Given the description of an element on the screen output the (x, y) to click on. 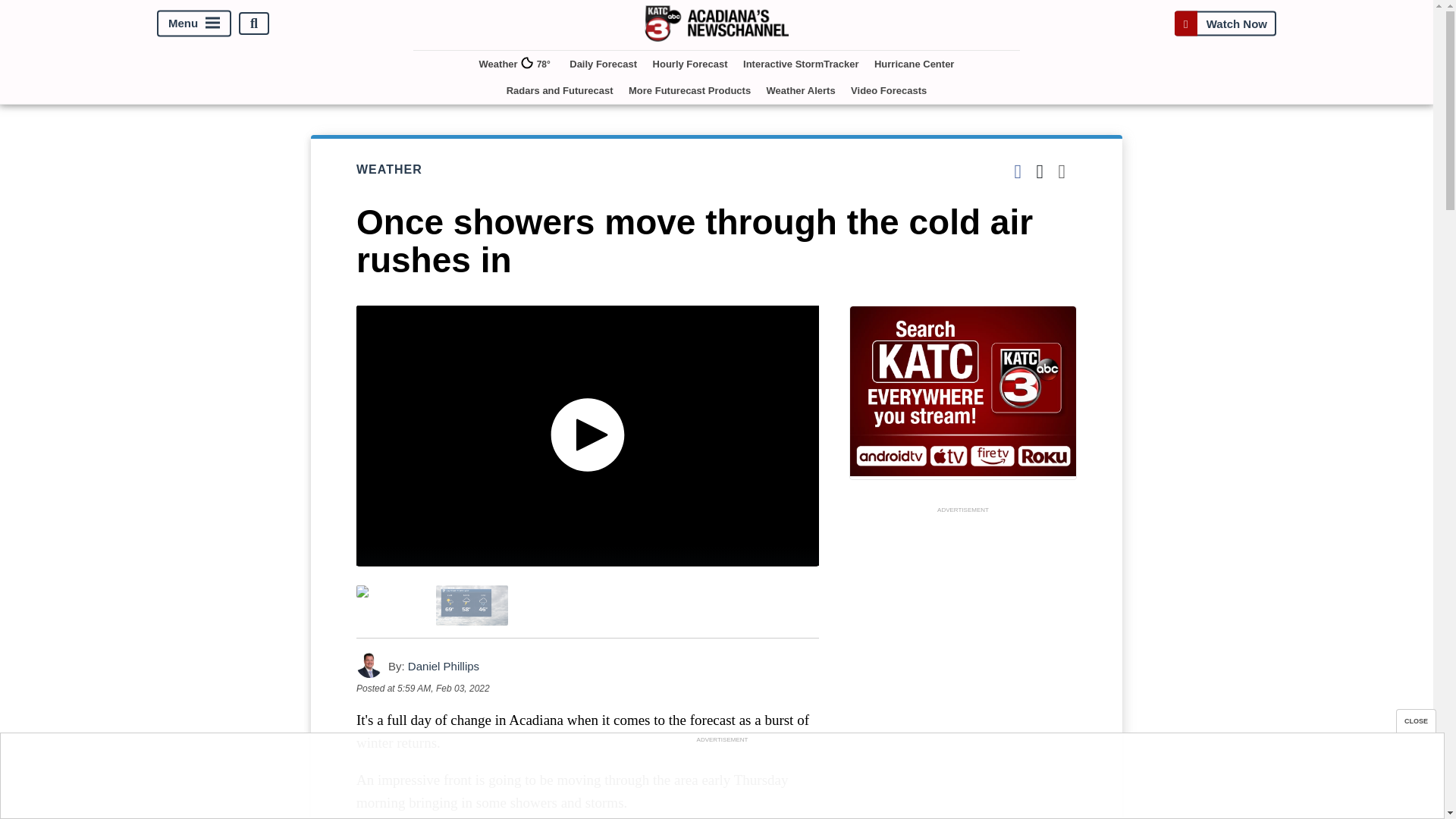
Watch Now (1224, 23)
Menu (194, 23)
3rd party ad content (721, 780)
